Given the description of an element on the screen output the (x, y) to click on. 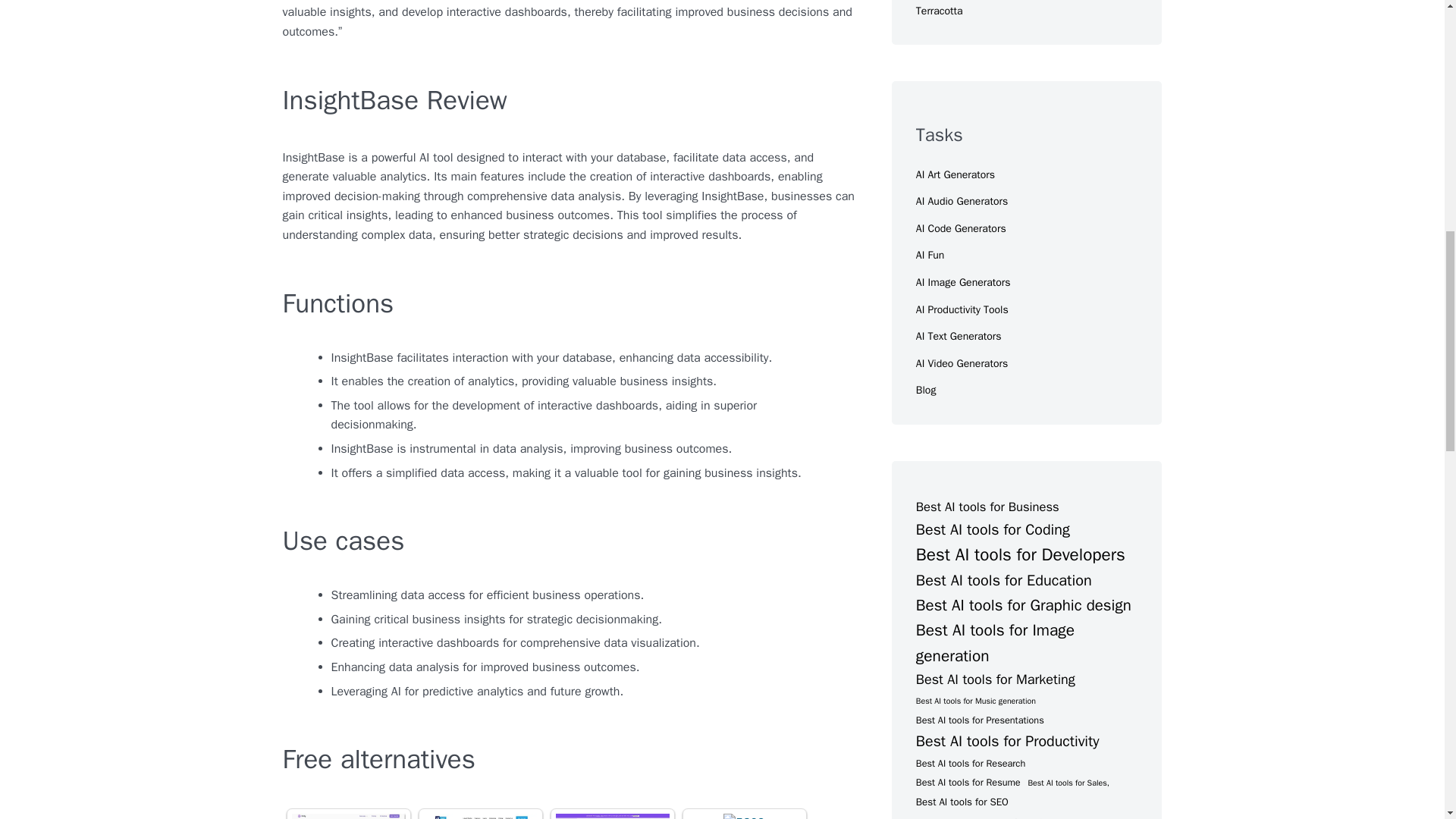
AI2sql (480, 816)
Dbsensei (611, 816)
Vizly (347, 816)
Vizly (347, 816)
AI2sql (480, 816)
Intellibase (743, 816)
Intellibase (743, 816)
Dbsensei (611, 816)
